Given the description of an element on the screen output the (x, y) to click on. 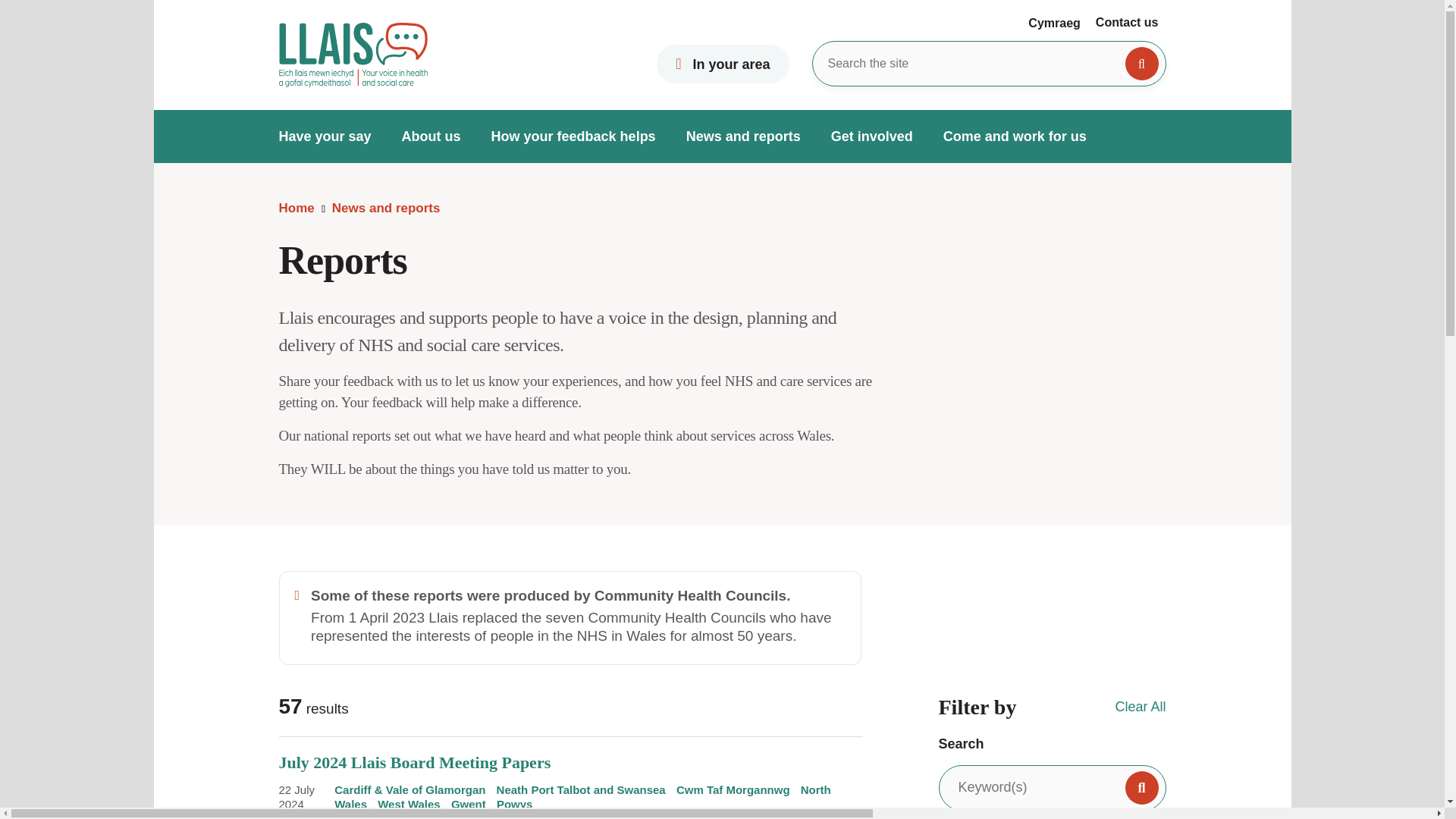
Clear All (1140, 706)
In your Area (722, 64)
